Given the description of an element on the screen output the (x, y) to click on. 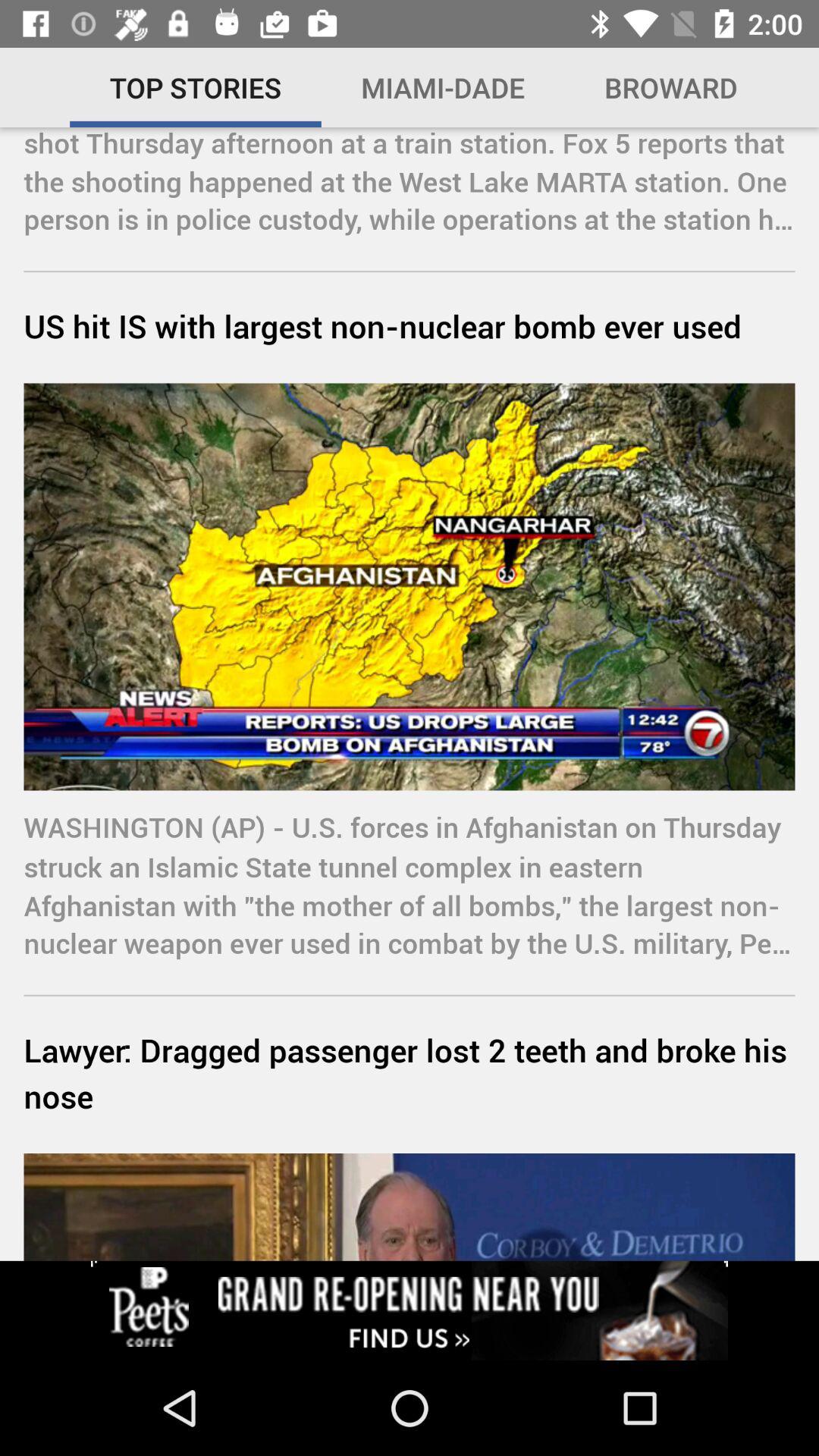
open advertising (409, 1310)
